Given the description of an element on the screen output the (x, y) to click on. 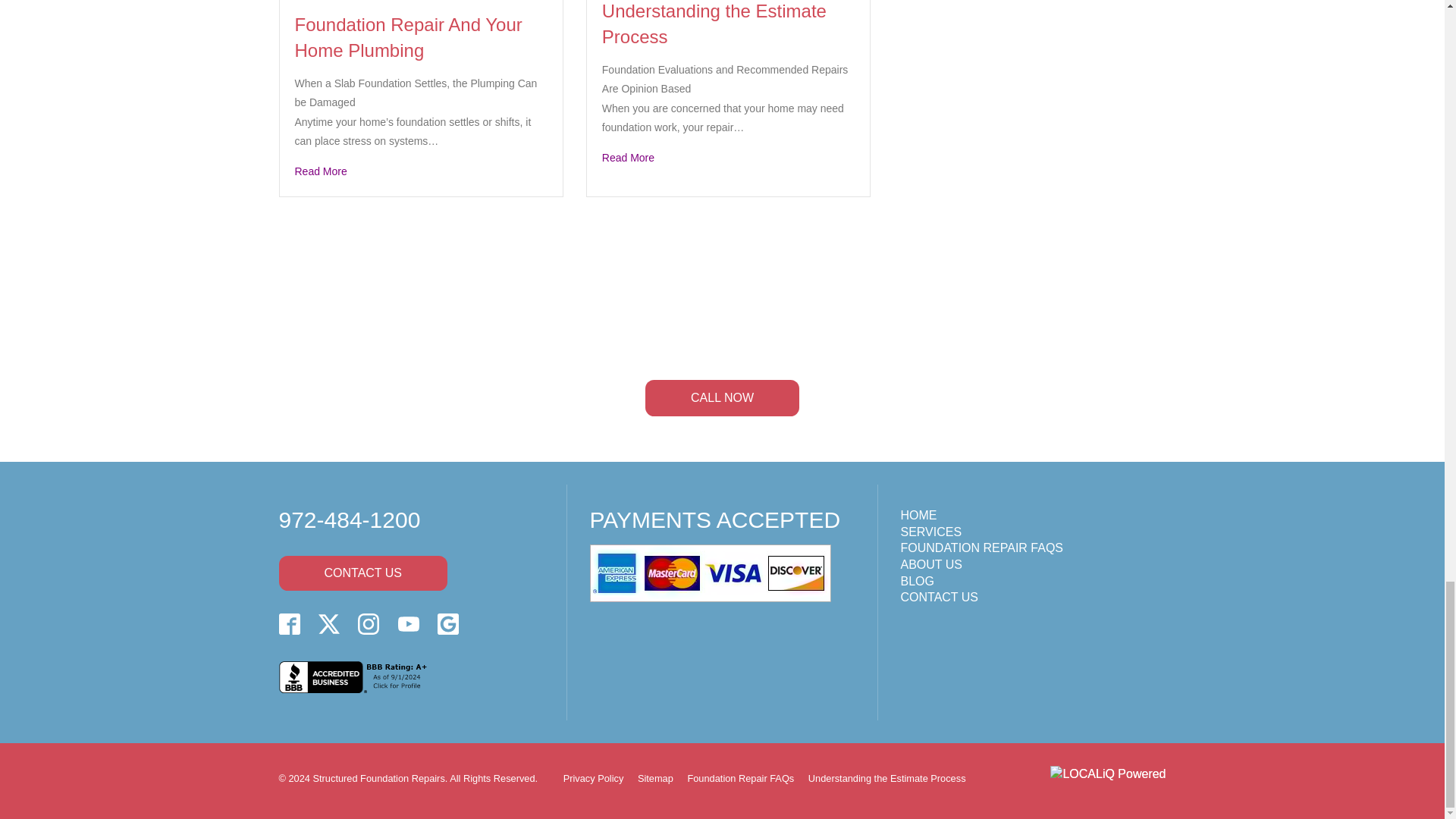
Understanding the Estimate Process (728, 157)
Foundation Repair And Your Home Plumbing (420, 171)
youtube (408, 623)
google (448, 623)
instagram (368, 623)
facebook (289, 623)
twitter (328, 623)
